Given the description of an element on the screen output the (x, y) to click on. 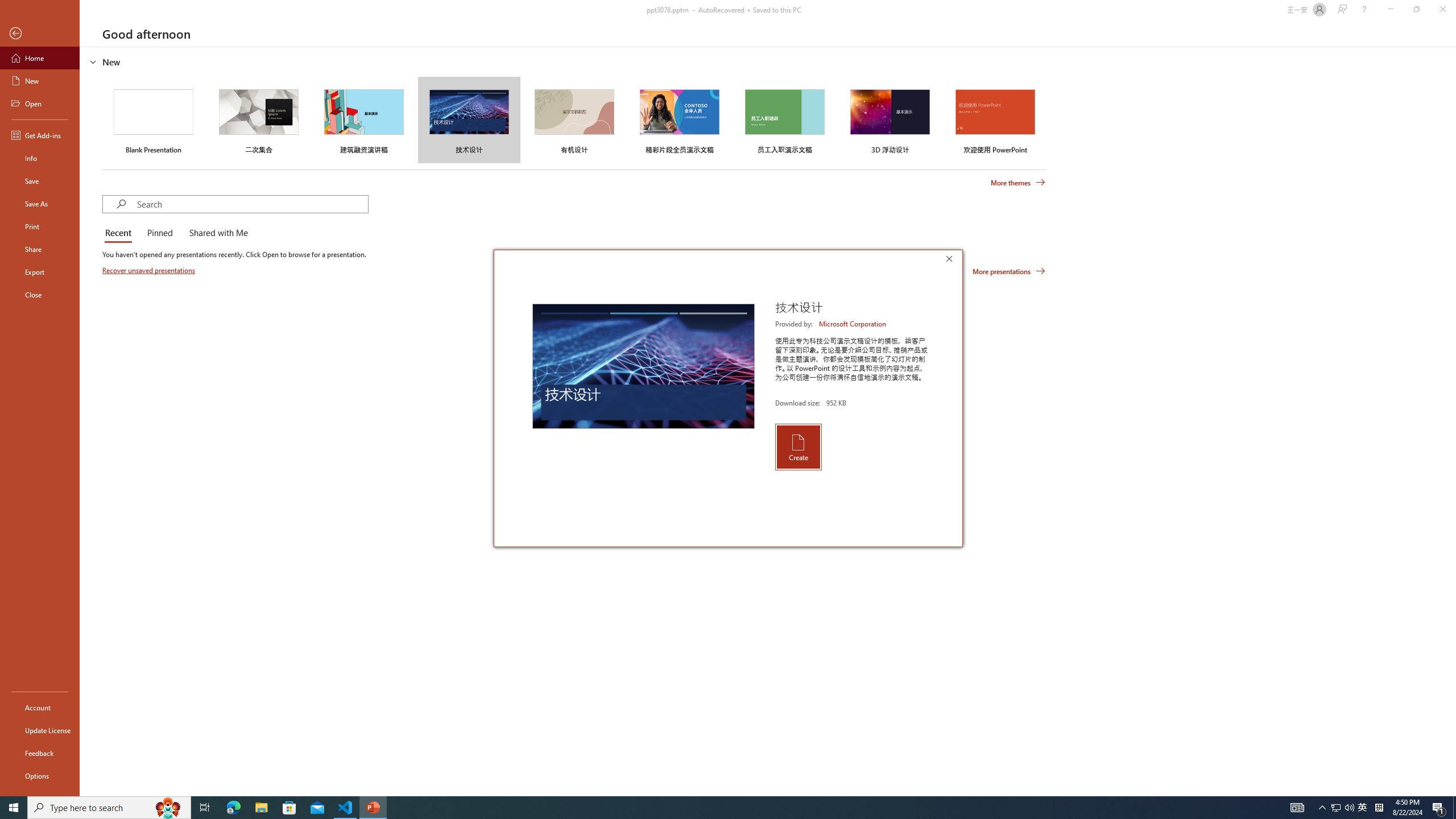
New (40, 80)
More presentations (1008, 270)
Account (40, 707)
